Given the description of an element on the screen output the (x, y) to click on. 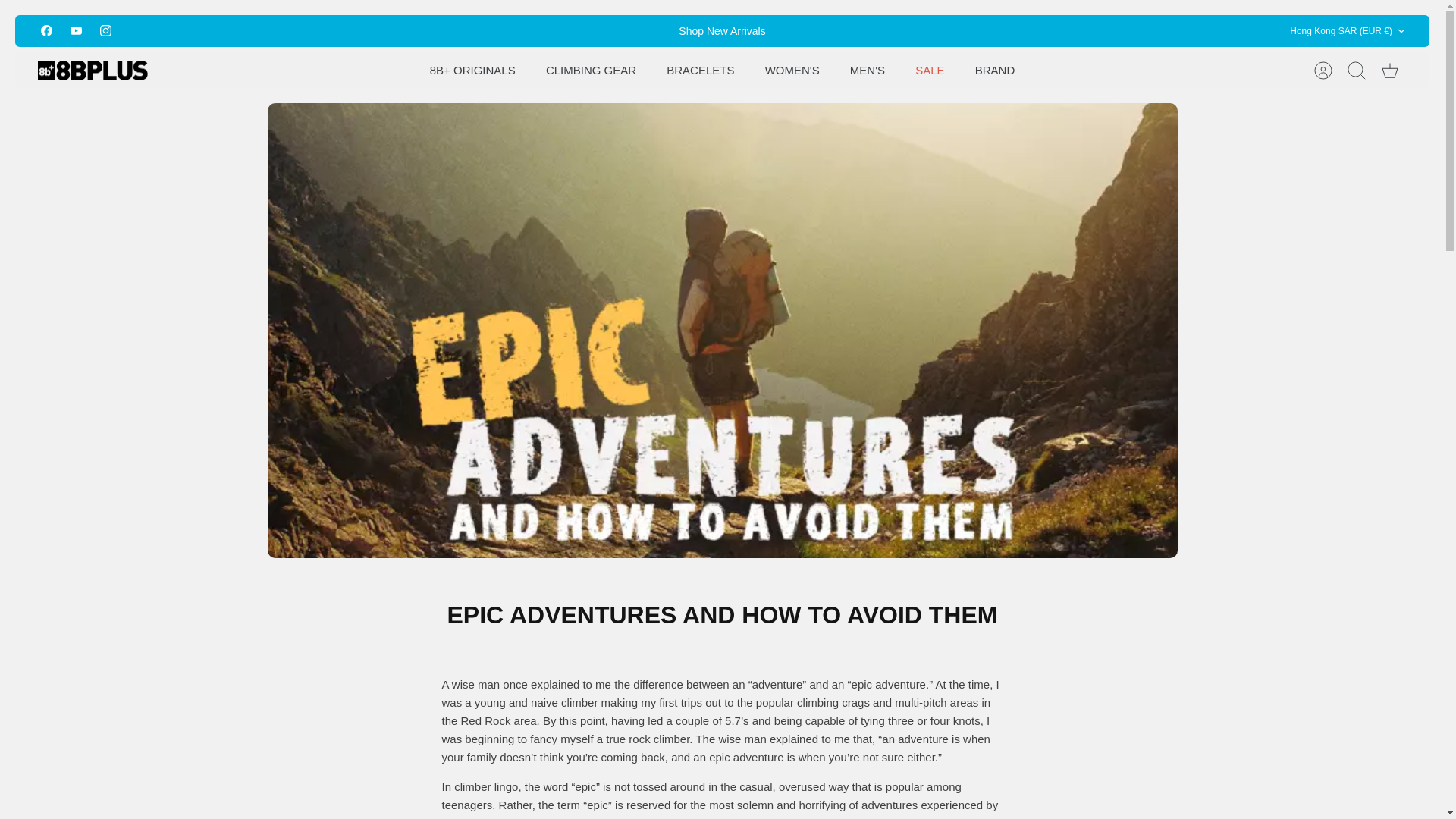
8BPLUS (92, 70)
Youtube (75, 30)
Instagram (105, 30)
Instagram (106, 30)
Youtube (75, 30)
